Given the description of an element on the screen output the (x, y) to click on. 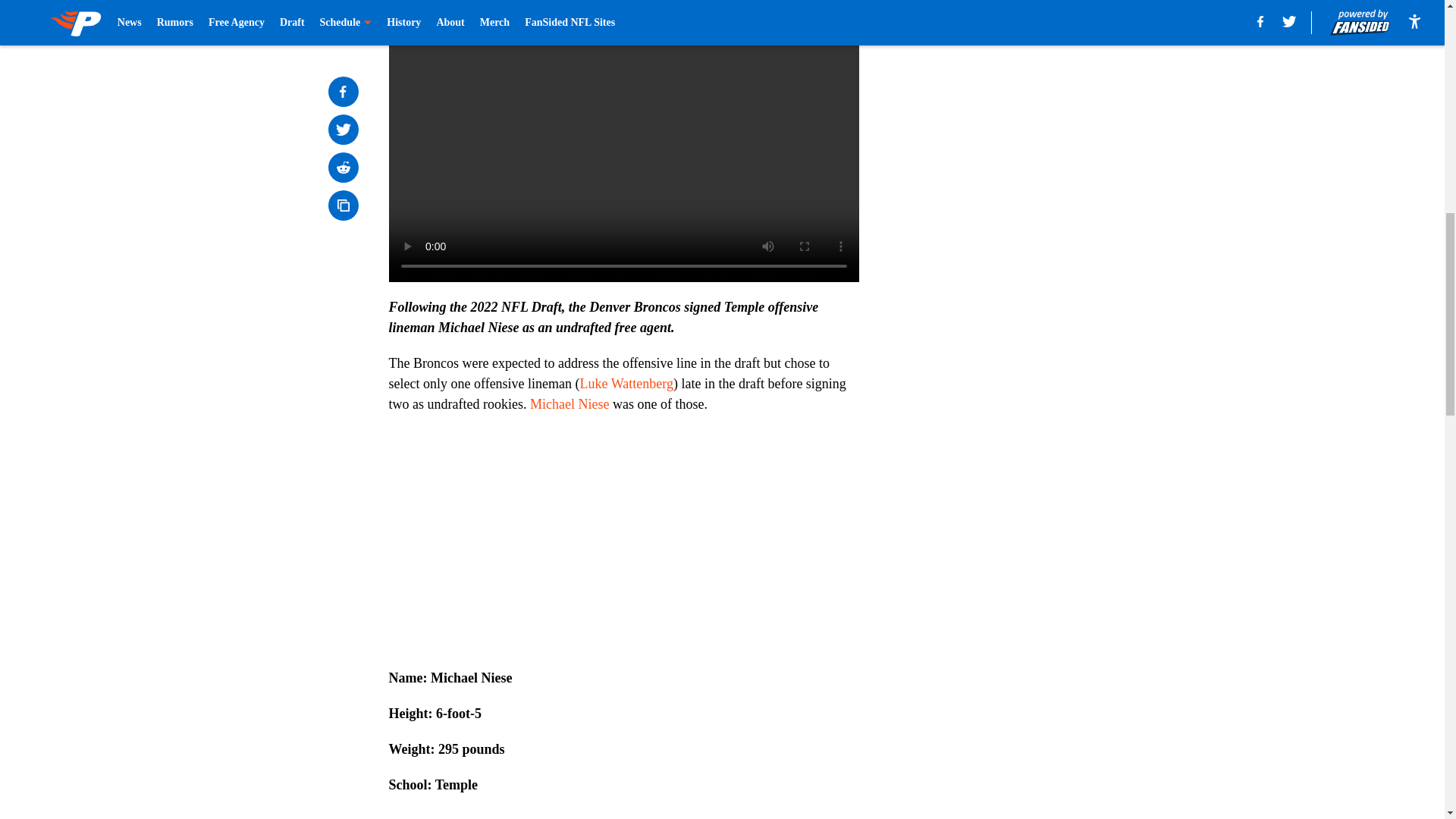
3rd party ad content (1047, 113)
Luke Wattenberg (625, 383)
Michael Niese (568, 403)
3rd party ad content (1047, 332)
